Given the description of an element on the screen output the (x, y) to click on. 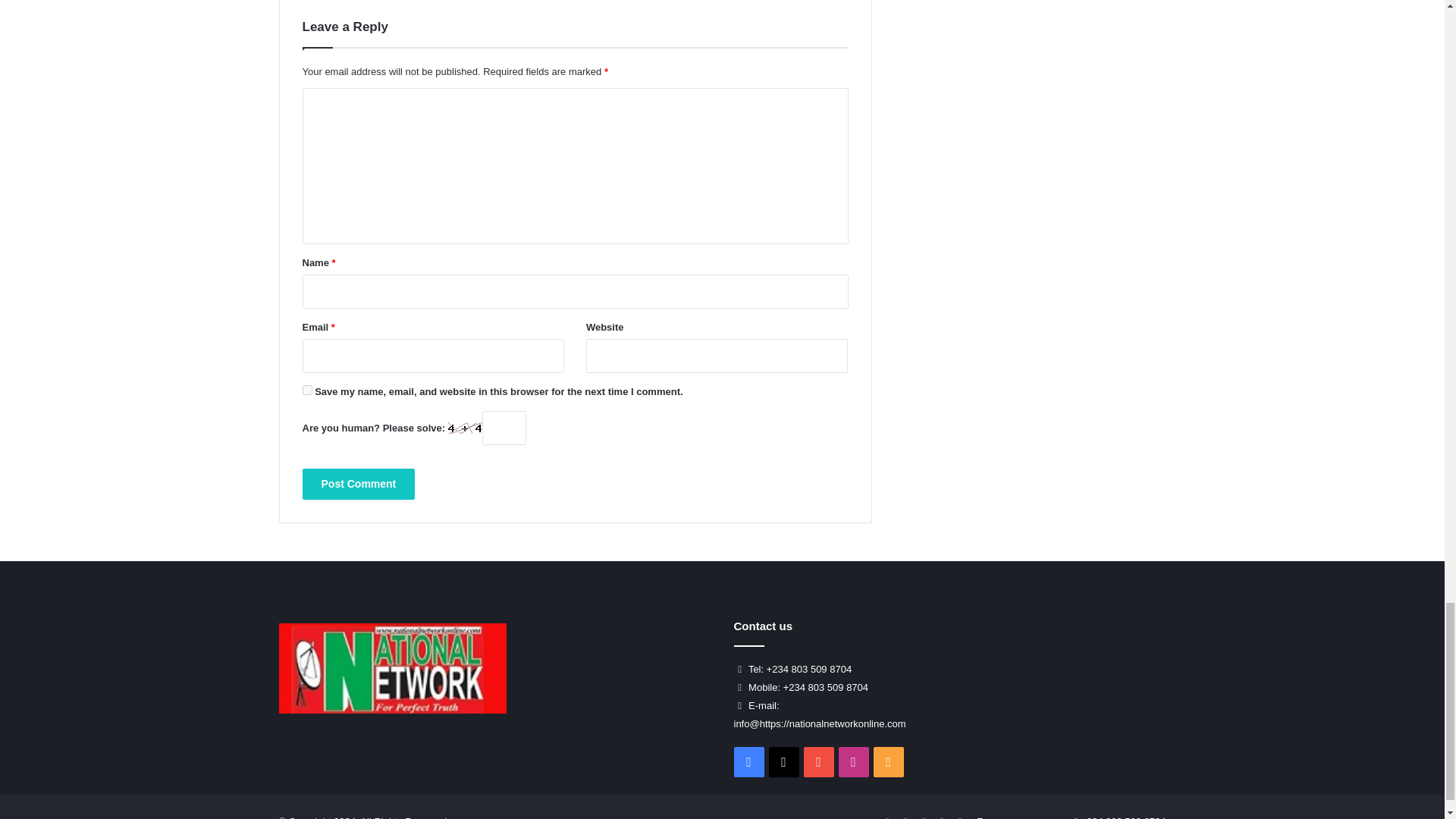
yes (306, 389)
Post Comment (357, 483)
